Given the description of an element on the screen output the (x, y) to click on. 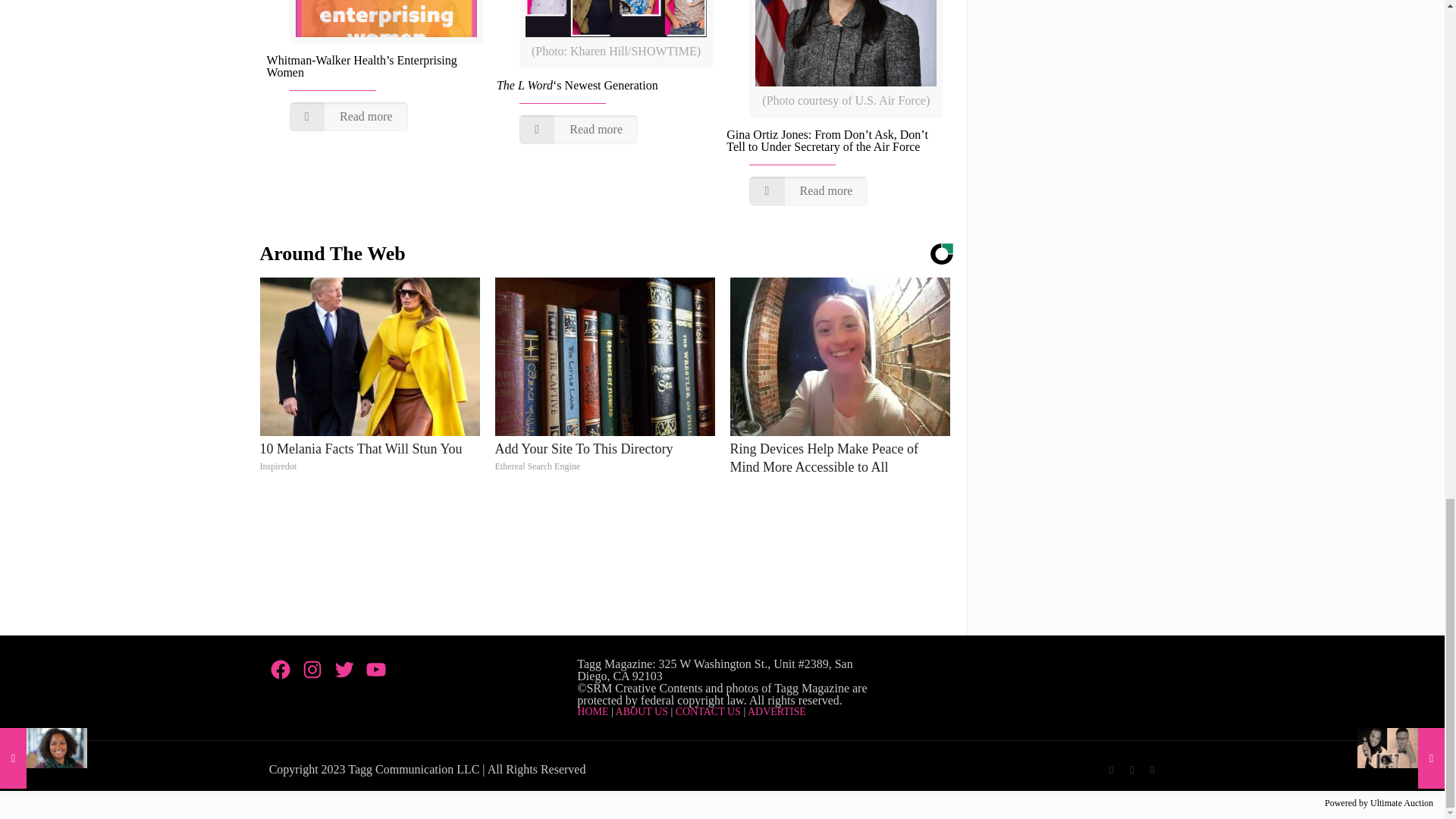
Twitter (1132, 769)
YouTube (1152, 769)
Facebook (1111, 769)
